Given the description of an element on the screen output the (x, y) to click on. 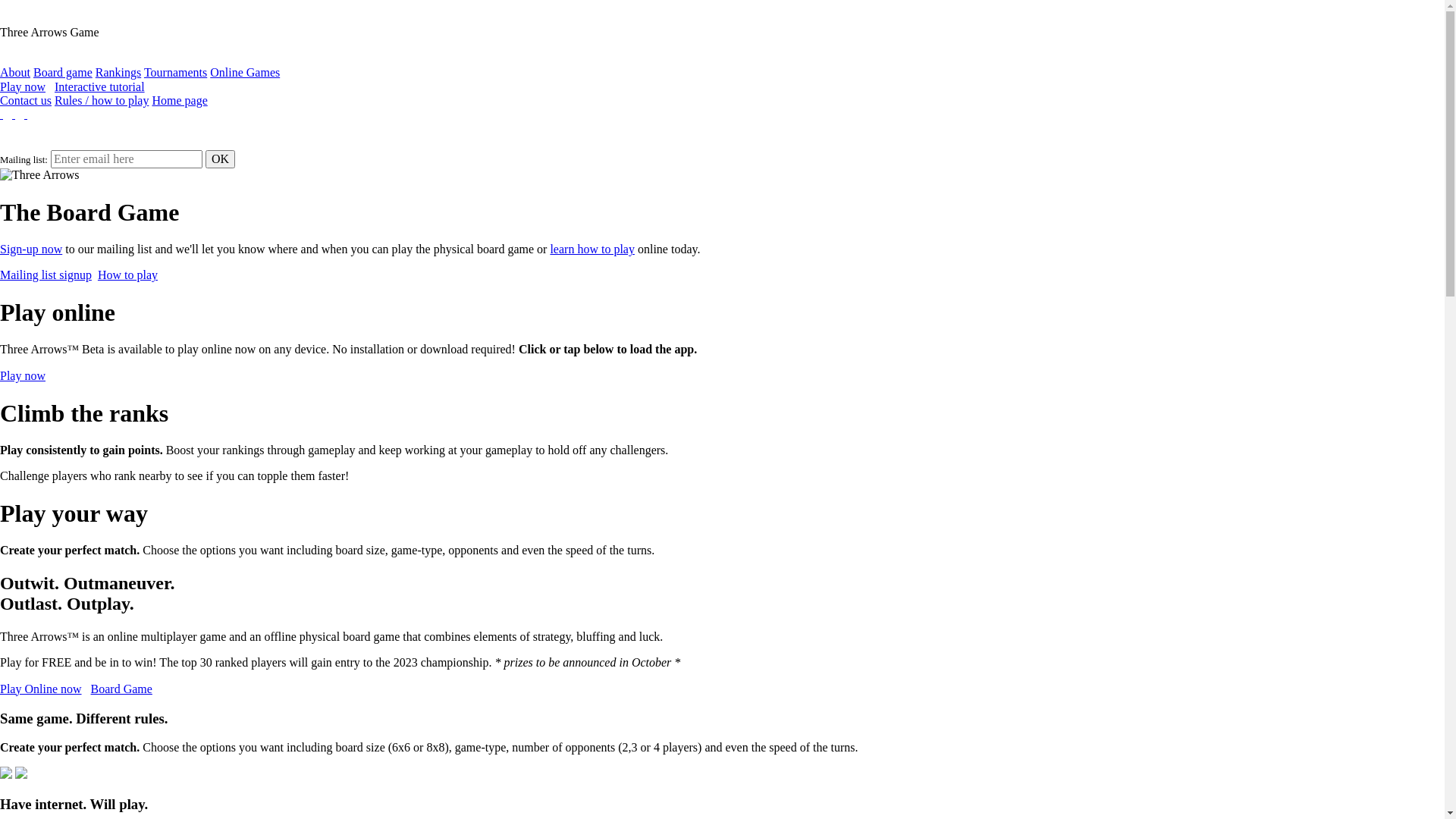
Rankings Element type: text (118, 71)
  Element type: text (25, 113)
Rules / how to play Element type: text (101, 100)
OK Element type: text (220, 159)
Play now Element type: text (22, 86)
Mailing list signup Element type: text (45, 274)
Online Games Element type: text (244, 71)
How to play Element type: text (127, 274)
Contact us Element type: text (25, 100)
Play now Element type: text (22, 375)
  Element type: text (13, 113)
Tournaments Element type: text (175, 71)
learn how to play Element type: text (591, 248)
About Element type: text (15, 71)
Board game Element type: text (62, 71)
  Element type: text (1, 113)
Home page Element type: text (179, 100)
Sign-up now Element type: text (31, 248)
Play Online now Element type: text (40, 688)
Interactive tutorial Element type: text (99, 86)
Board Game Element type: text (121, 688)
